Given the description of an element on the screen output the (x, y) to click on. 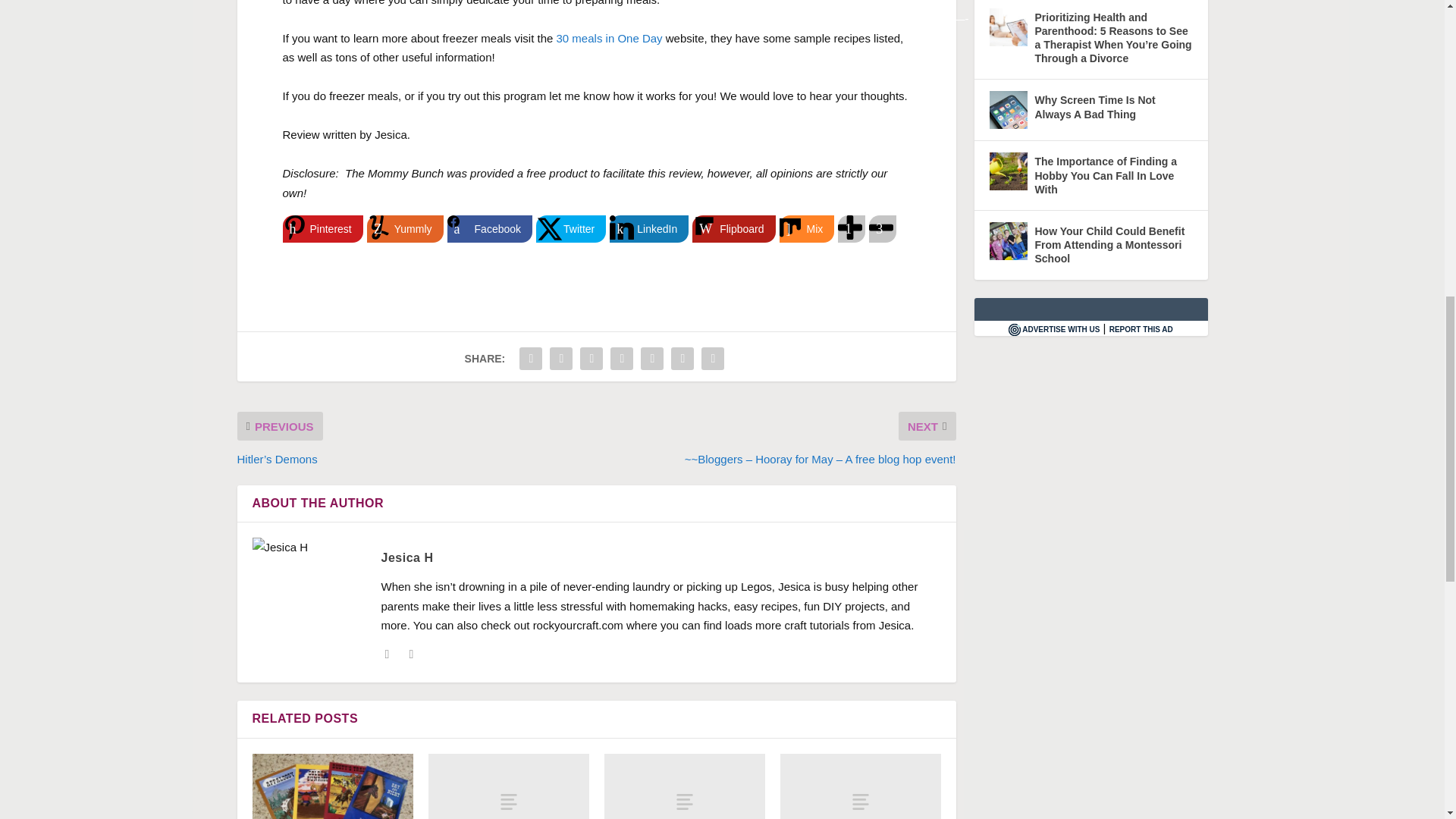
30 meals in One Day (609, 38)
Share on Pinterest (322, 228)
Pinterest (322, 228)
Yummly (405, 228)
Facebook (489, 228)
